Given the description of an element on the screen output the (x, y) to click on. 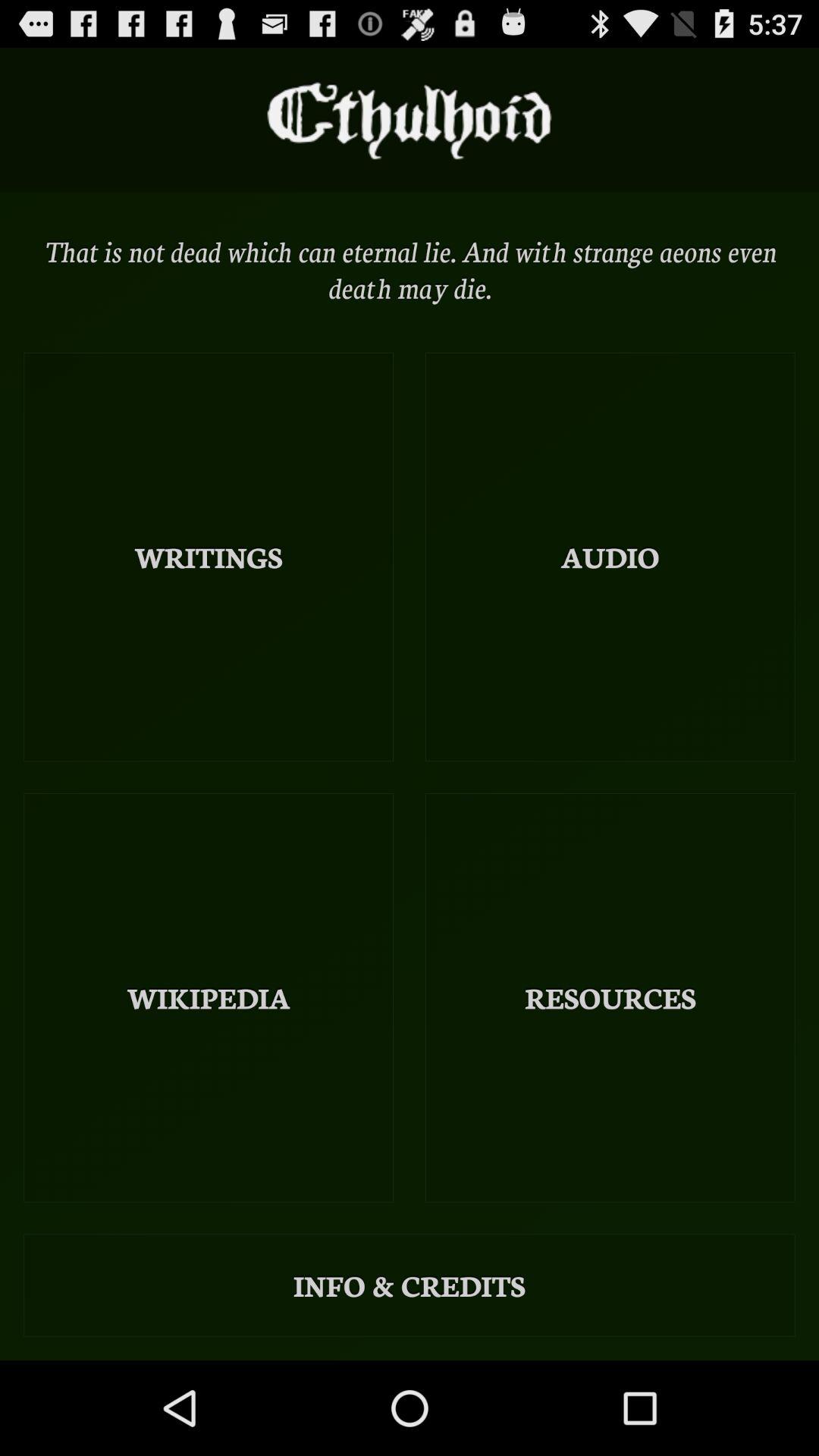
turn off the writings icon (208, 556)
